Given the description of an element on the screen output the (x, y) to click on. 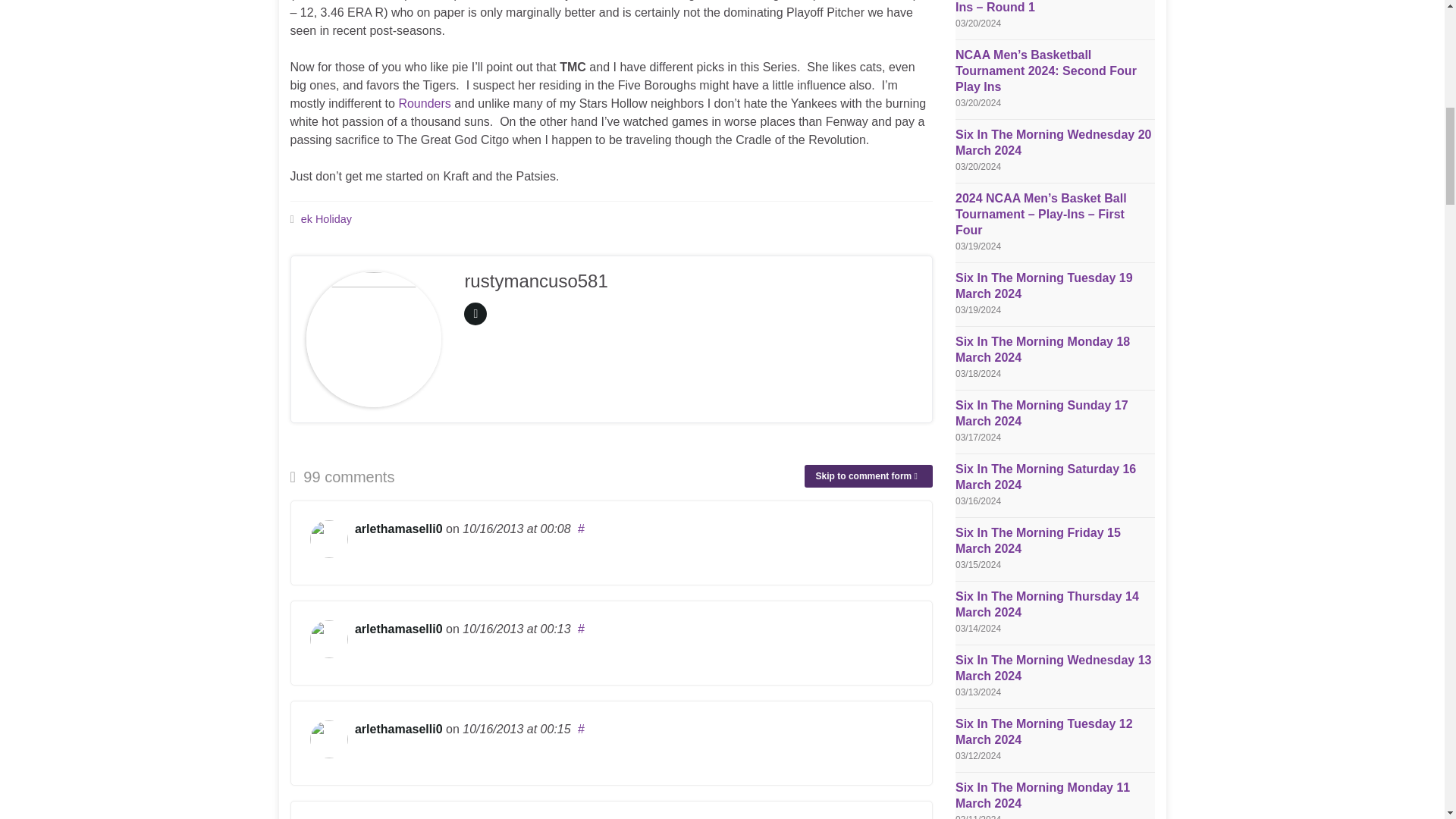
arlethamaselli0 (398, 528)
arlethamaselli0 (398, 728)
arlethamaselli0 (398, 628)
Rounders (423, 103)
ek Holiday (326, 218)
Skip to comment form (869, 476)
